Given the description of an element on the screen output the (x, y) to click on. 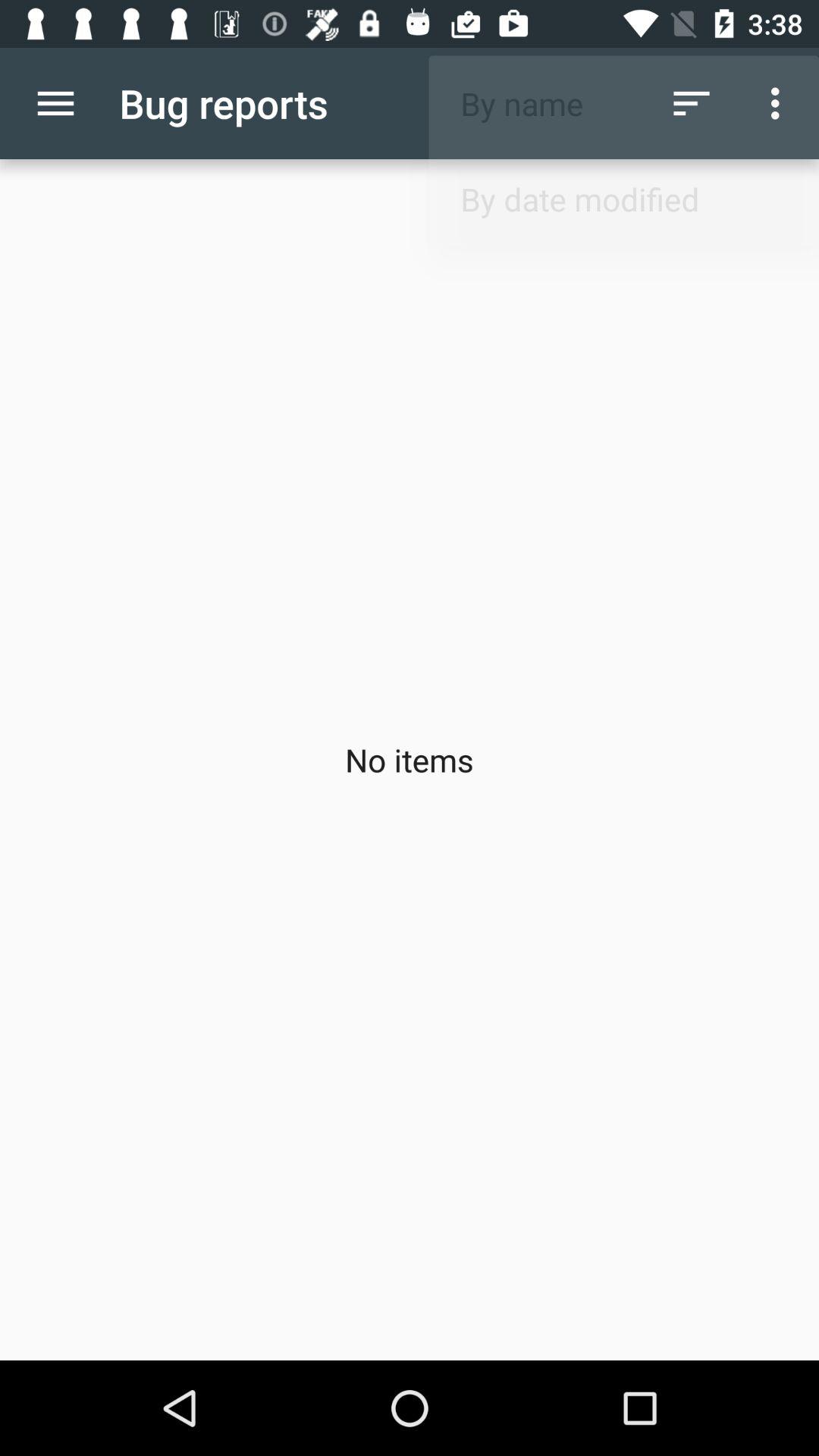
turn on item above the no items (691, 103)
